Given the description of an element on the screen output the (x, y) to click on. 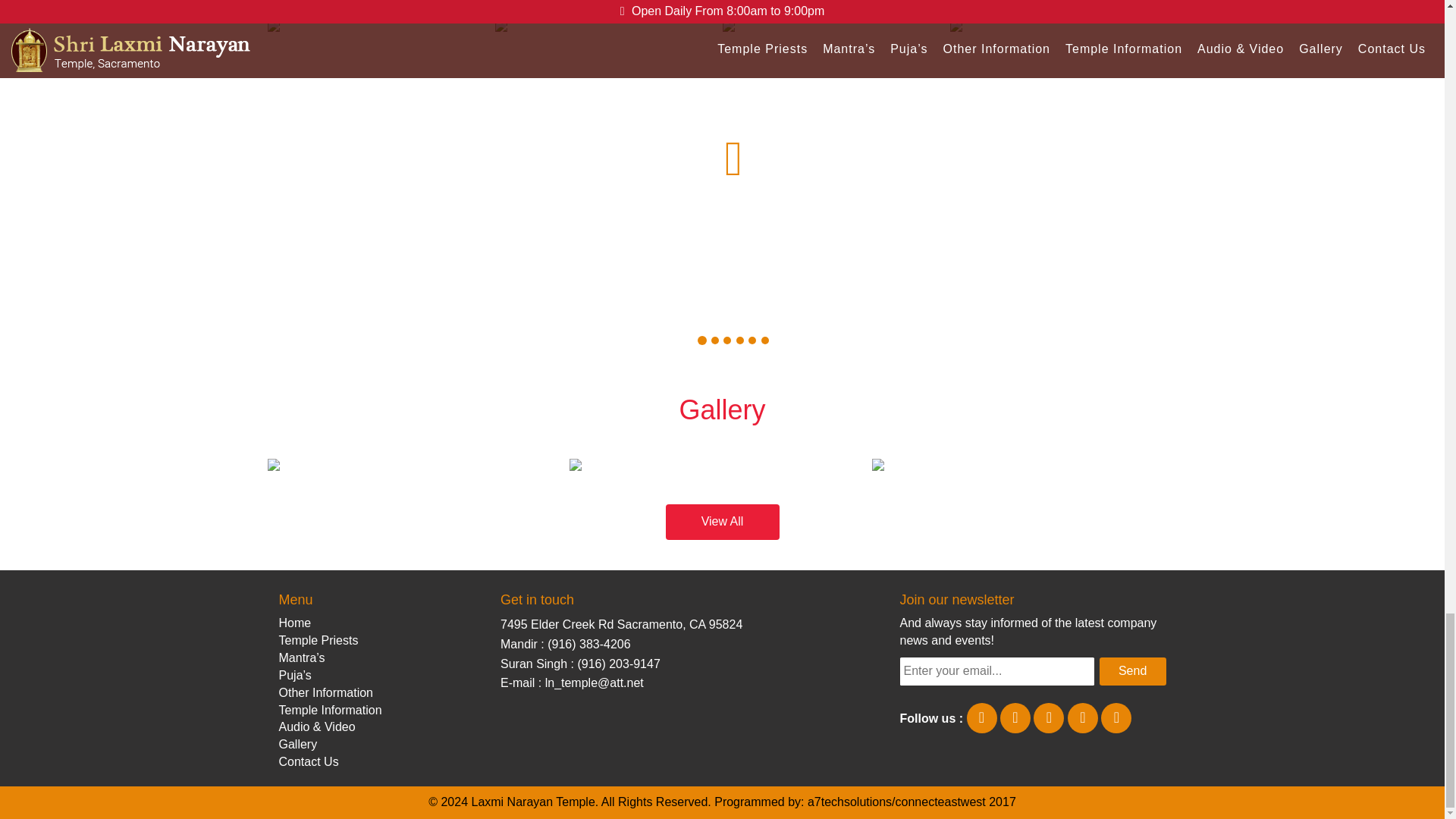
Pinterest (1082, 717)
Linkedin (1048, 717)
Facebook (980, 717)
Google Plus (1115, 717)
Send (1132, 671)
View All (722, 521)
Twitter (1015, 717)
